Given the description of an element on the screen output the (x, y) to click on. 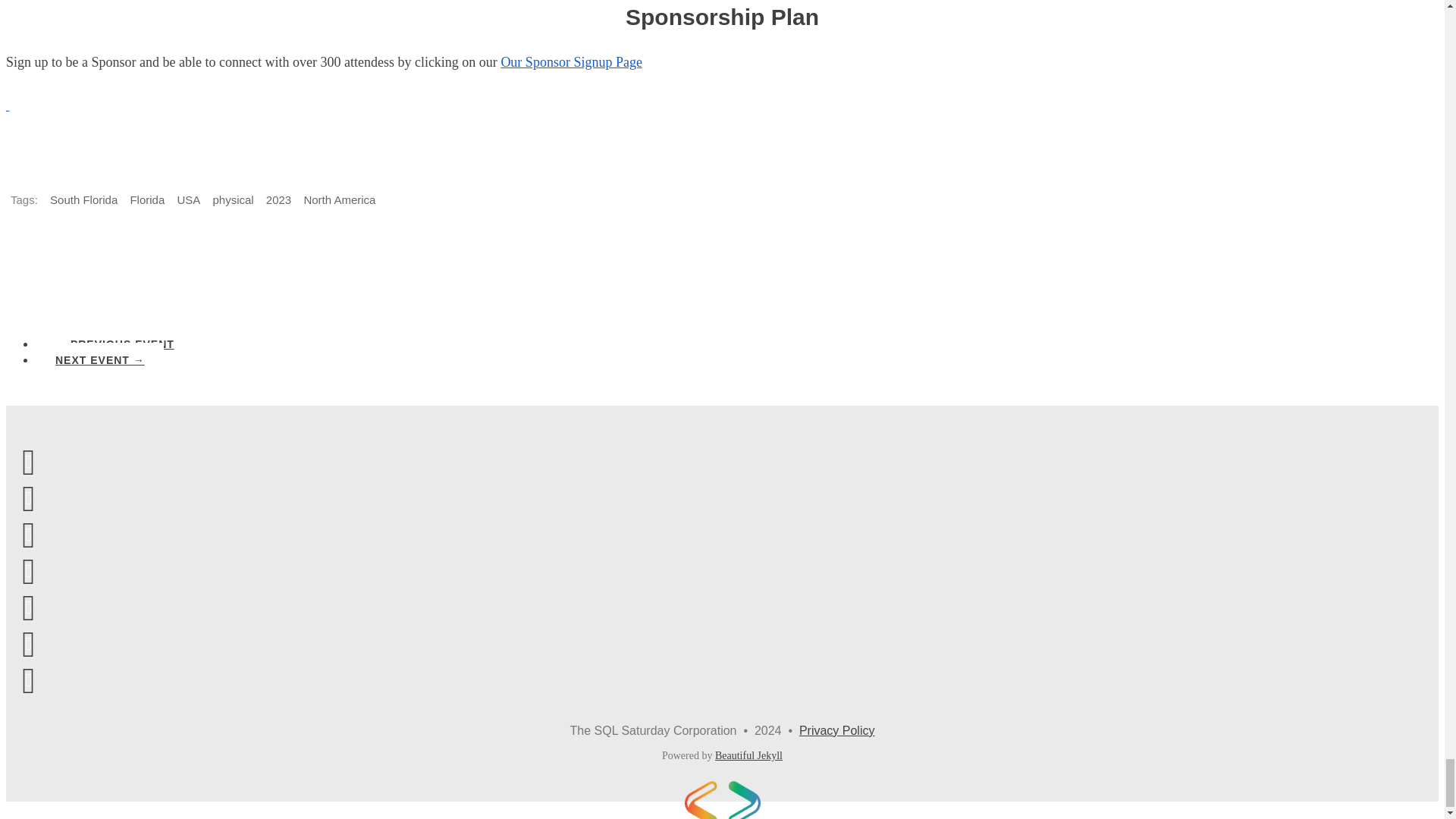
RSS (27, 460)
Facebook (27, 533)
GitHub (27, 570)
Instagram (27, 679)
LinkedIn (27, 642)
Twitter (27, 606)
Email me (27, 497)
